Given the description of an element on the screen output the (x, y) to click on. 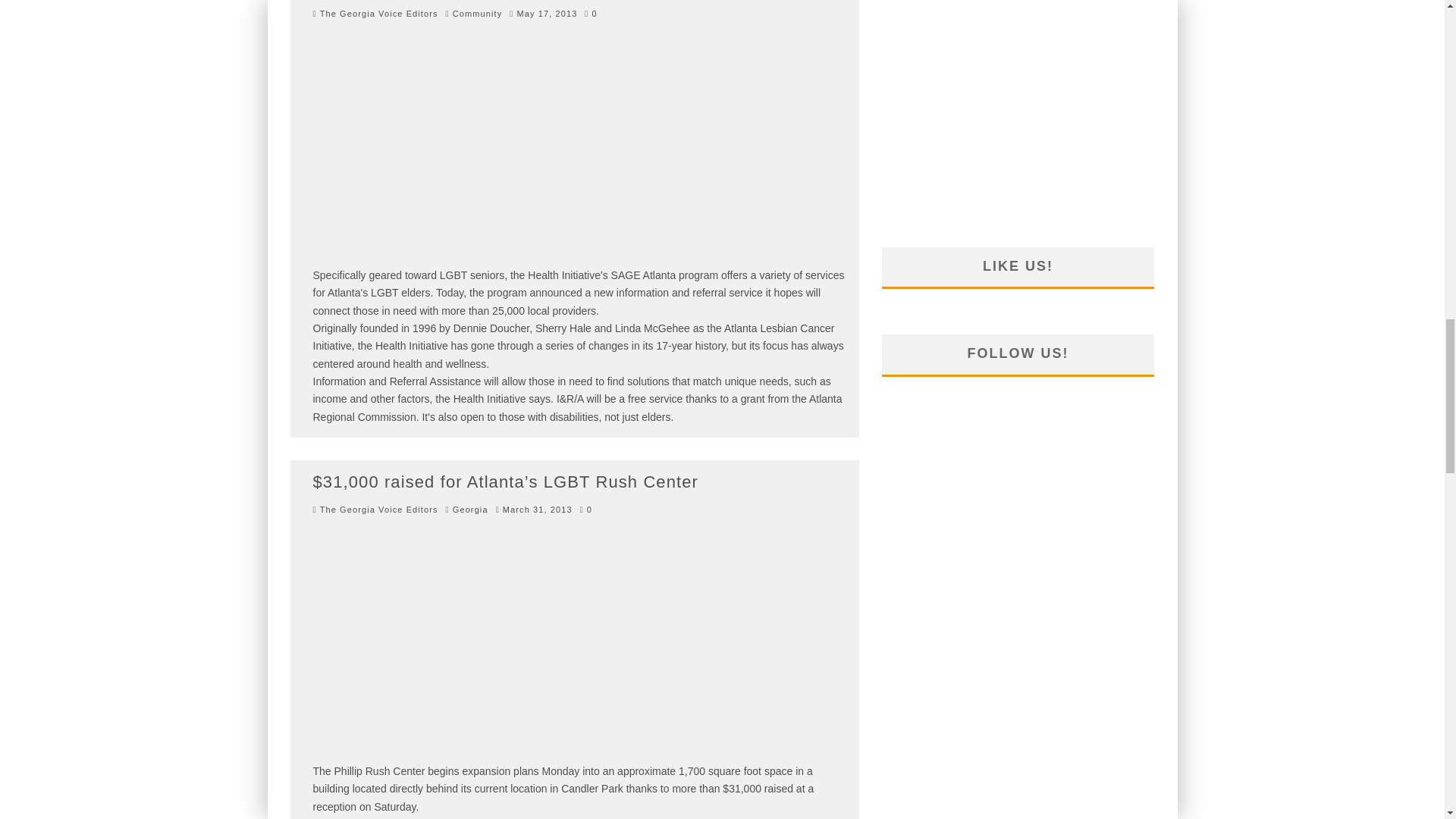
rushcenter.jpg (483, 643)
